Given the description of an element on the screen output the (x, y) to click on. 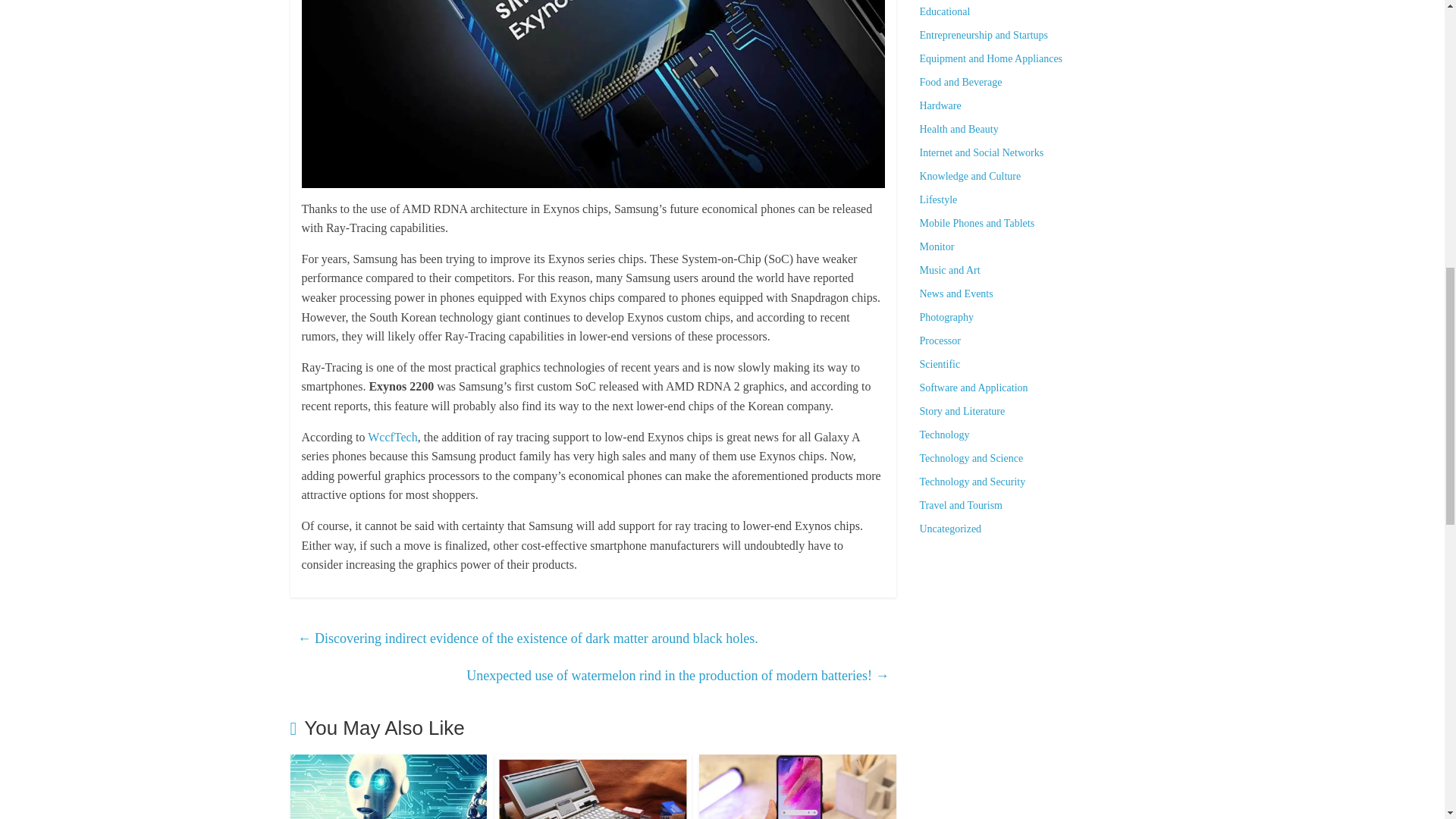
WccfTech (392, 436)
